Given the description of an element on the screen output the (x, y) to click on. 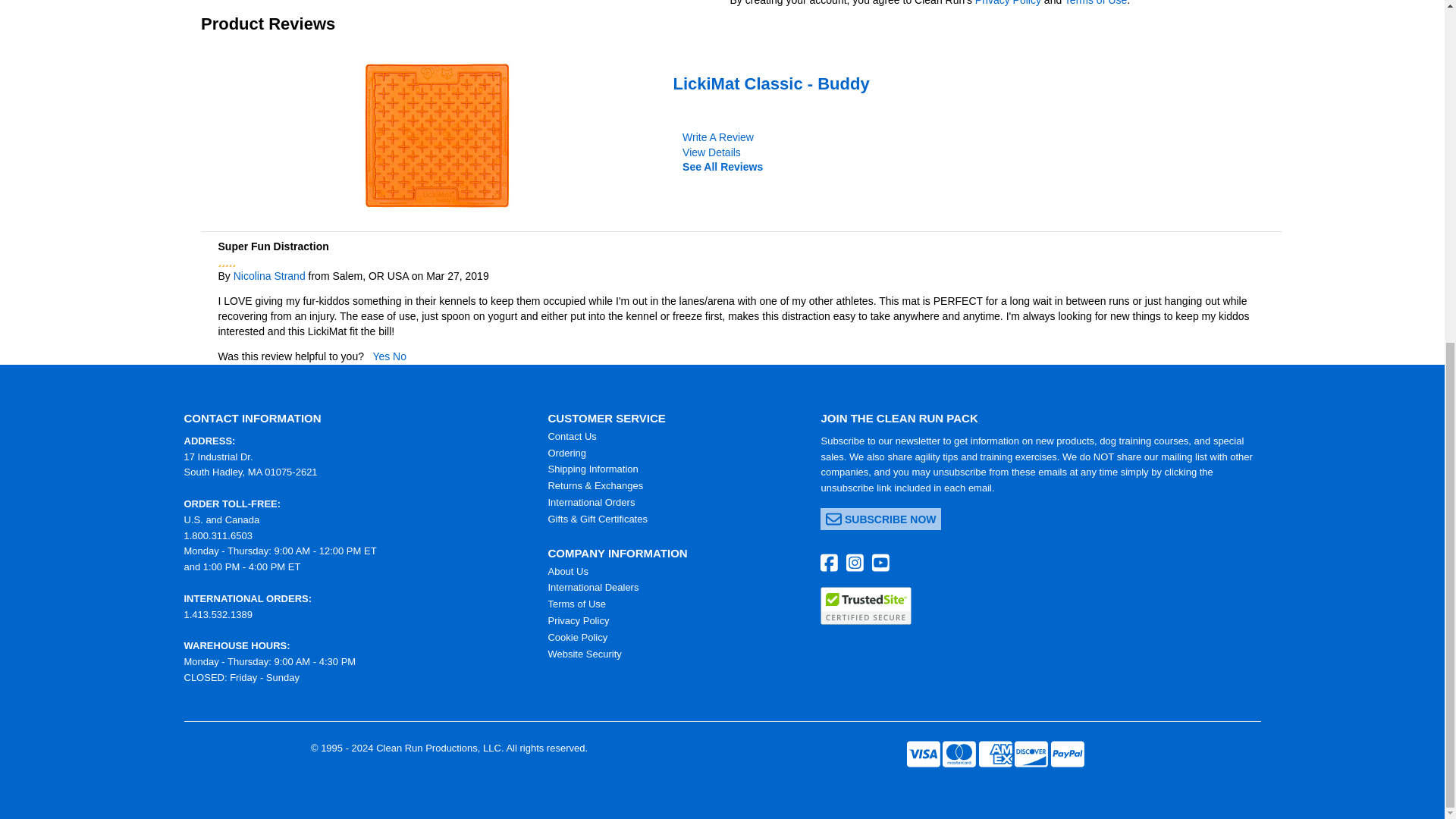
TrustedSite Certified (866, 605)
